Given the description of an element on the screen output the (x, y) to click on. 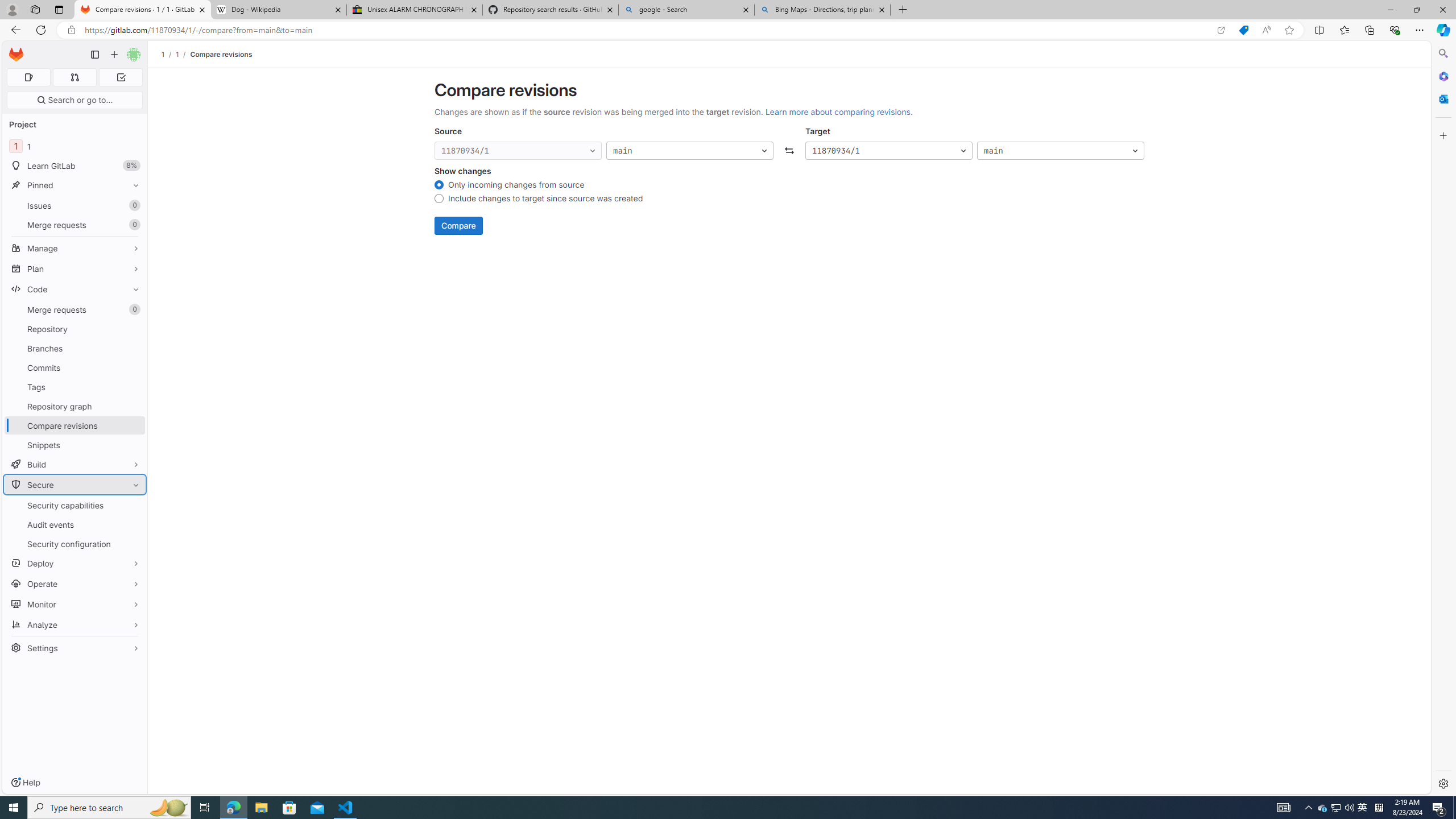
1 (177, 53)
Pin Snippets (132, 445)
Learn GitLab8% (74, 165)
Learn GitLab 8% (74, 165)
Snippets (74, 444)
Pin Commits (132, 367)
Audit events (74, 524)
Code (74, 289)
Plan (74, 268)
To-Do list 0 (120, 76)
